Given the description of an element on the screen output the (x, y) to click on. 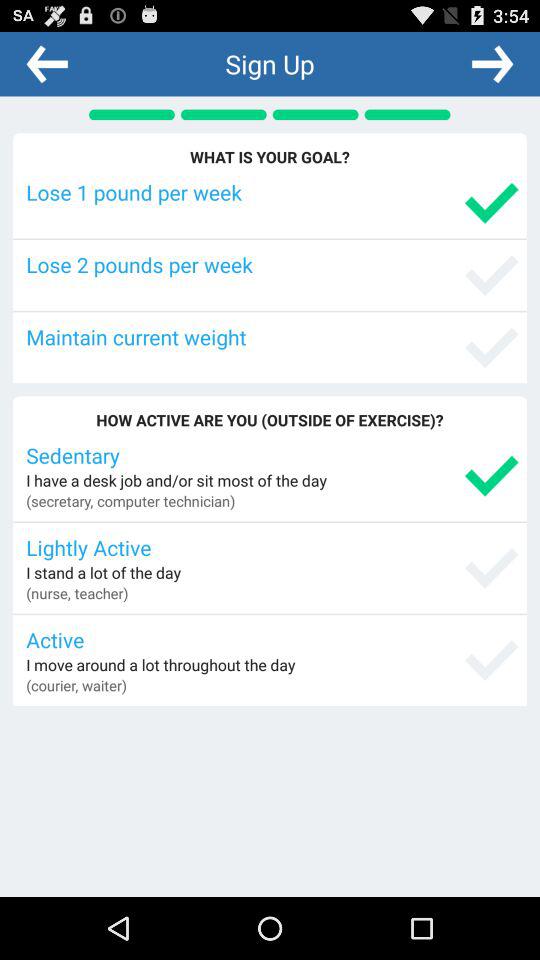
turn off the app above the lightly active item (130, 500)
